Given the description of an element on the screen output the (x, y) to click on. 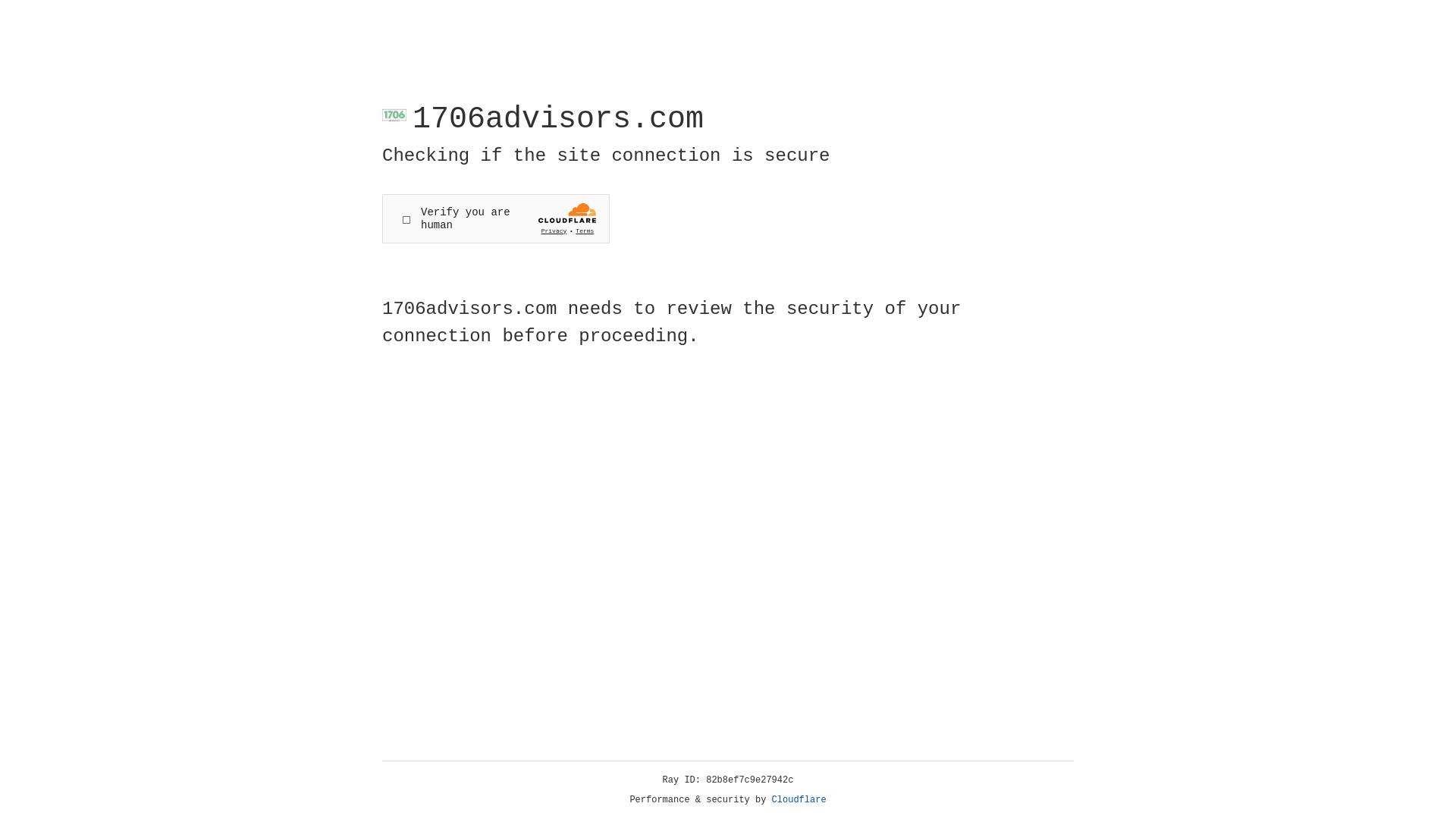
Cloudflare Element type: text (798, 799)
Widget containing a Cloudflare security challenge Element type: hover (495, 218)
